Given the description of an element on the screen output the (x, y) to click on. 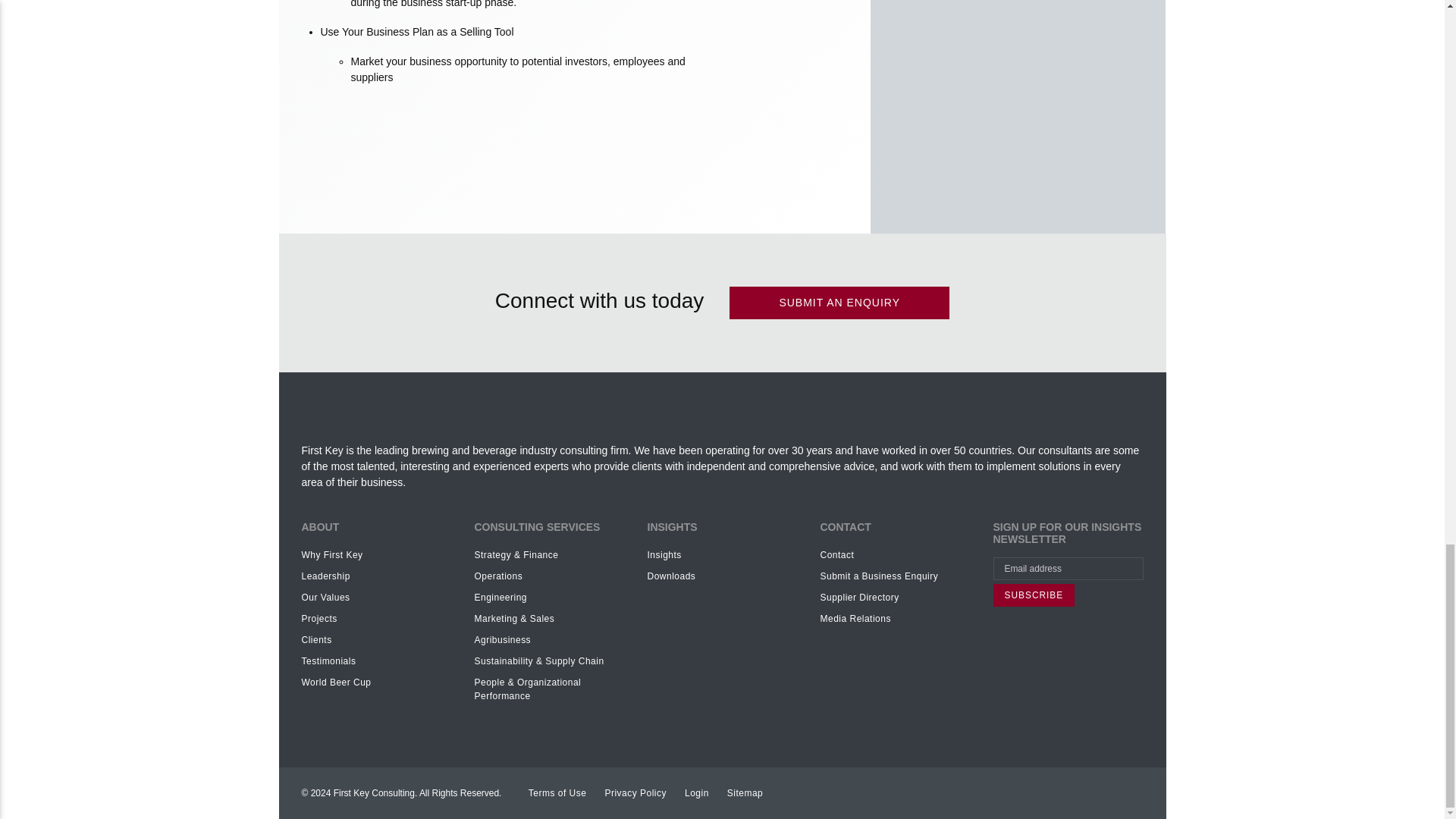
Subscribe (1033, 594)
